Given the description of an element on the screen output the (x, y) to click on. 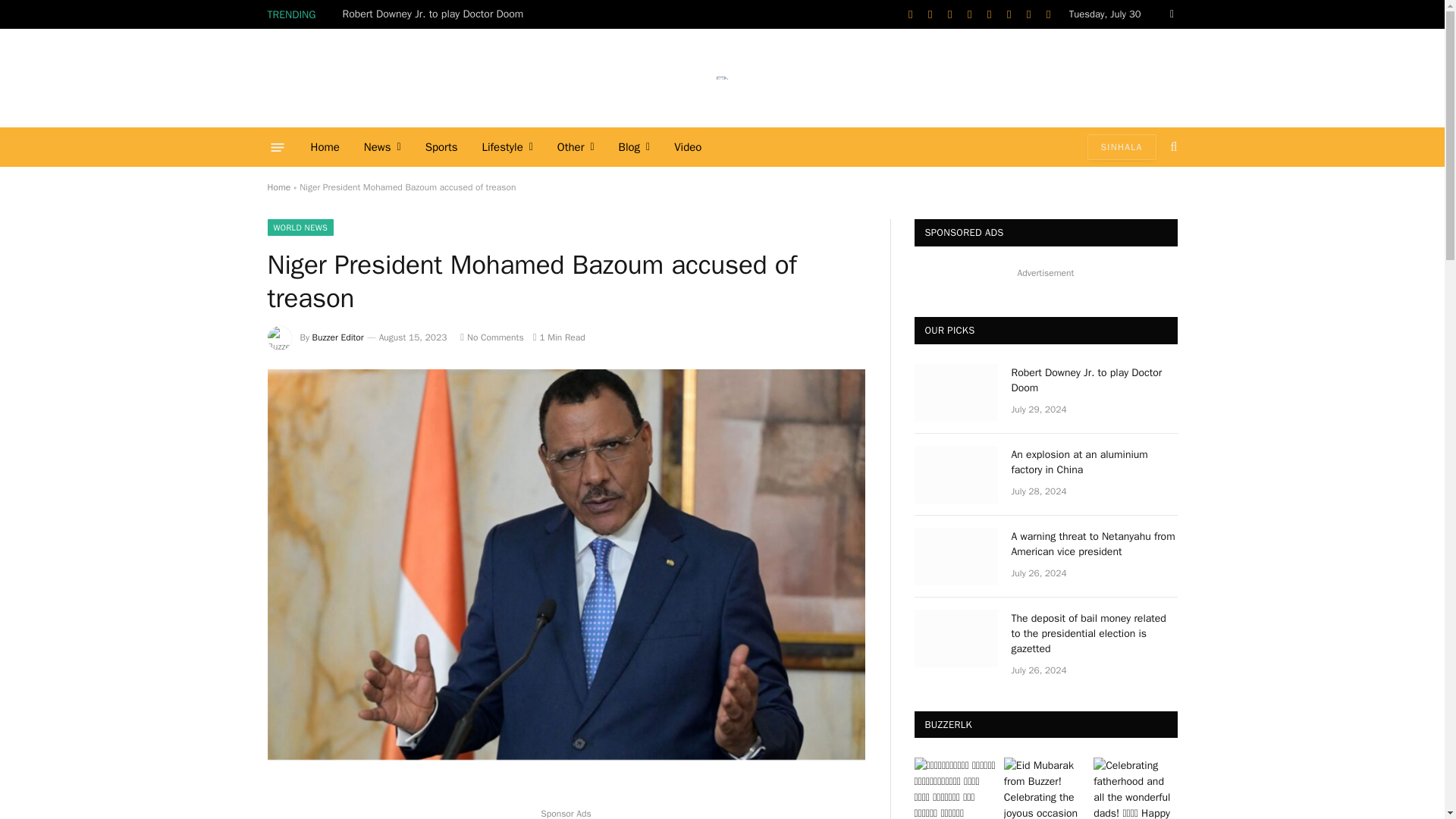
Posts by Buzzer Editor (338, 337)
Switch to Dark Design - easier on eyes. (1169, 14)
